Given the description of an element on the screen output the (x, y) to click on. 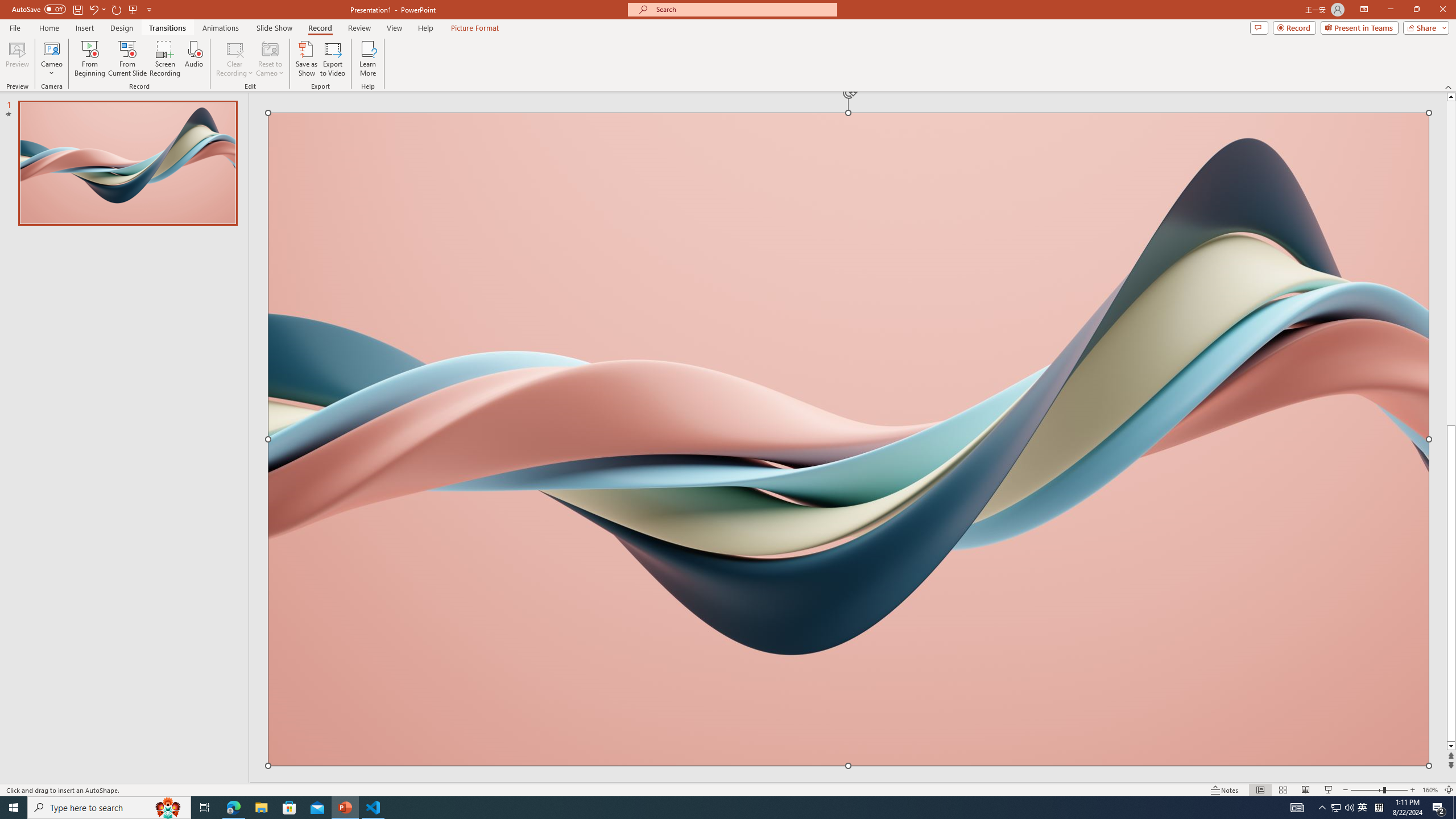
Zoom 160% (1430, 790)
